Given the description of an element on the screen output the (x, y) to click on. 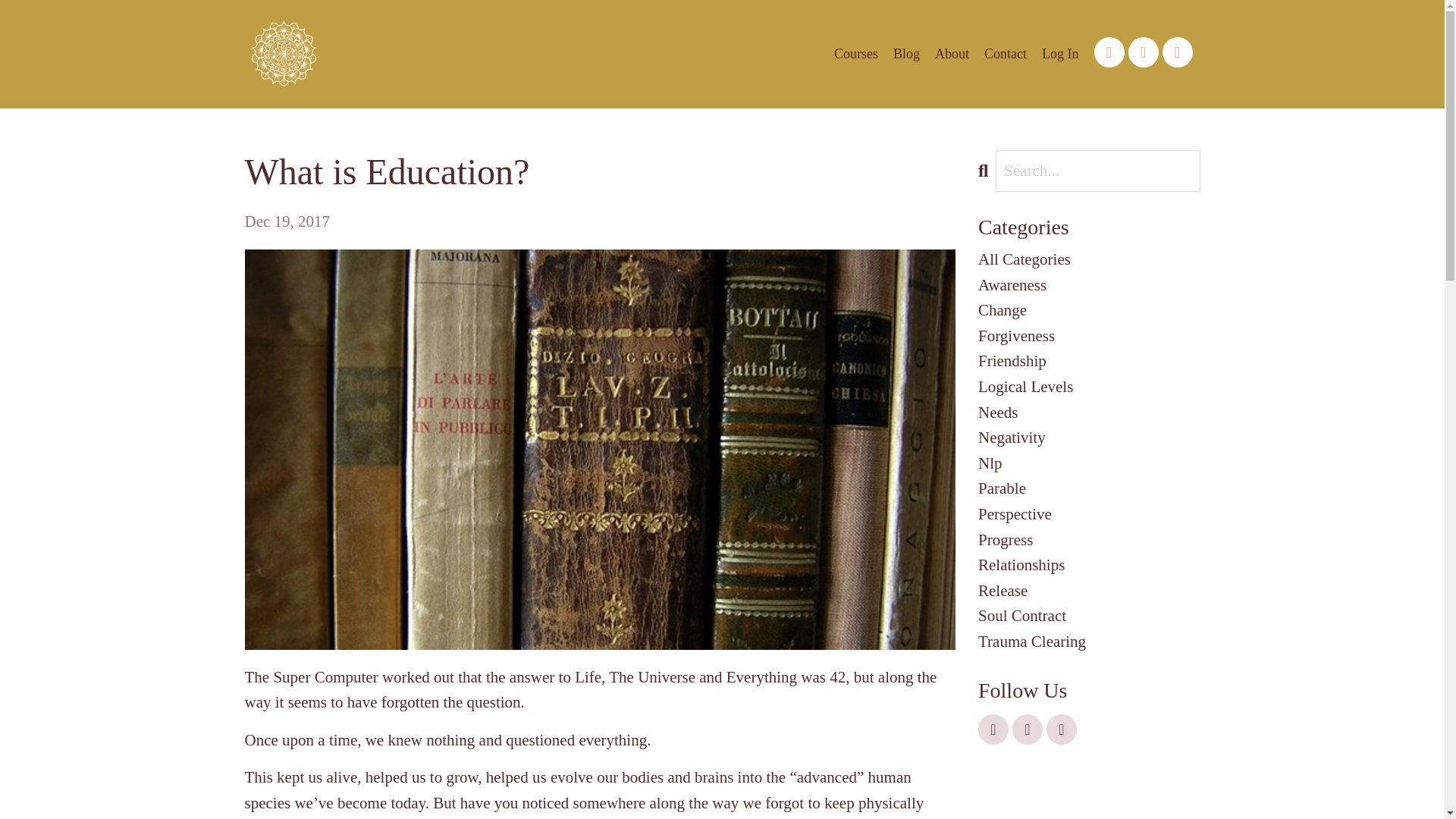
Soul Contract (1088, 616)
Courses (855, 54)
Awareness (1088, 285)
Change (1088, 310)
Needs (1088, 412)
Parable (1088, 488)
Blog (906, 54)
Negativity (1088, 438)
Relationships (1088, 565)
All Categories (1088, 259)
